Given the description of an element on the screen output the (x, y) to click on. 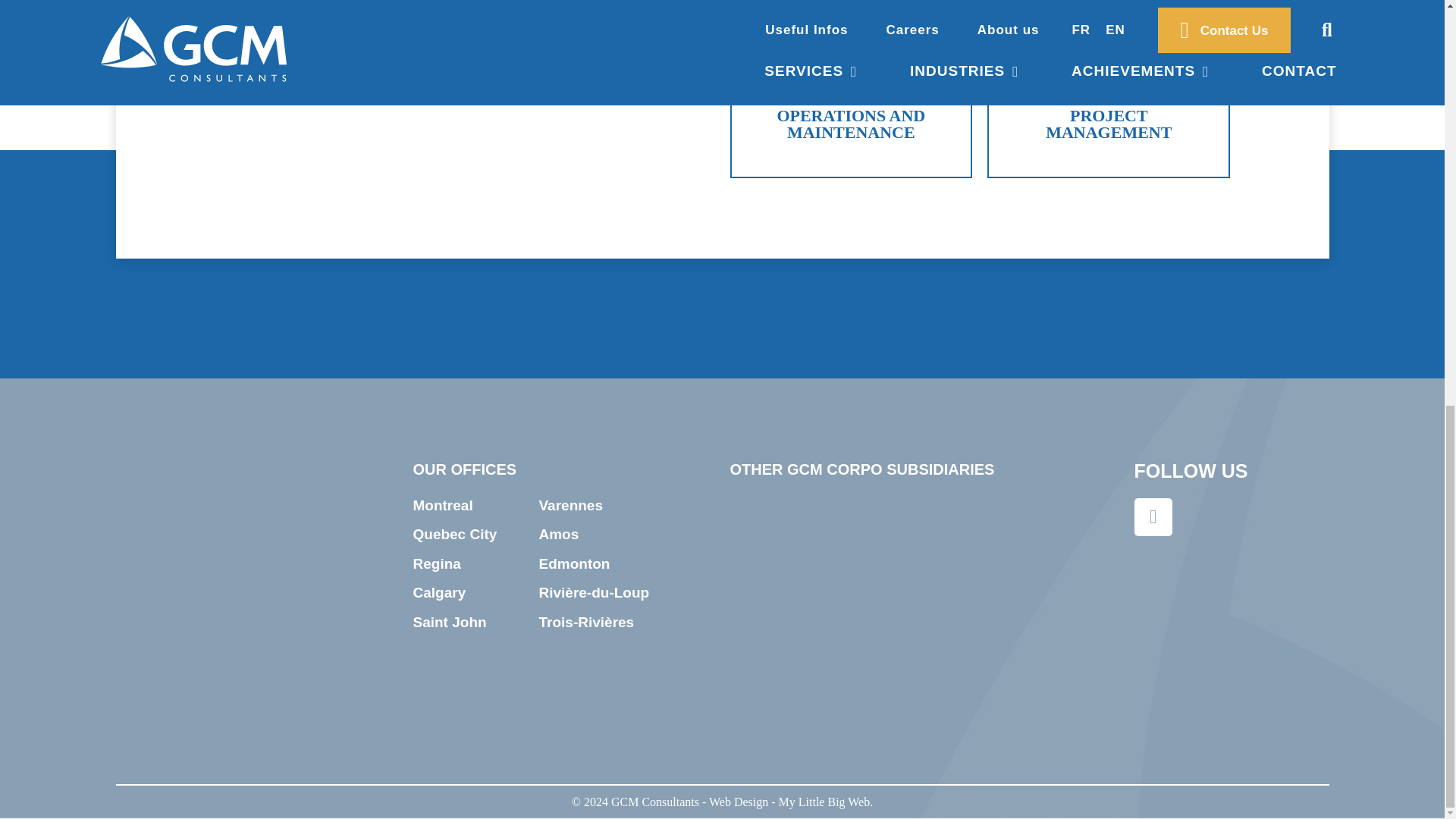
PP (1171, 604)
